Given the description of an element on the screen output the (x, y) to click on. 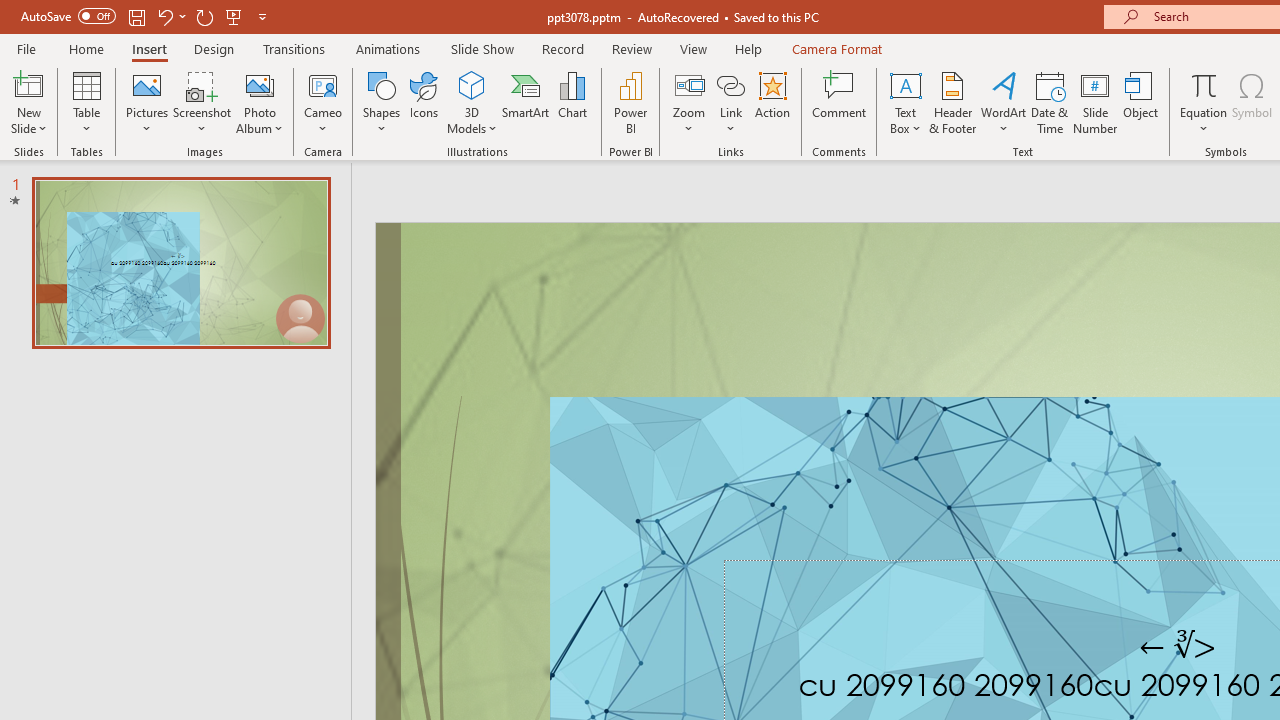
Draw Horizontal Text Box (905, 84)
3D Models (472, 102)
SmartArt... (525, 102)
Comment (839, 102)
Link (731, 84)
WordArt (1004, 102)
Action (772, 102)
3D Models (472, 84)
